Given the description of an element on the screen output the (x, y) to click on. 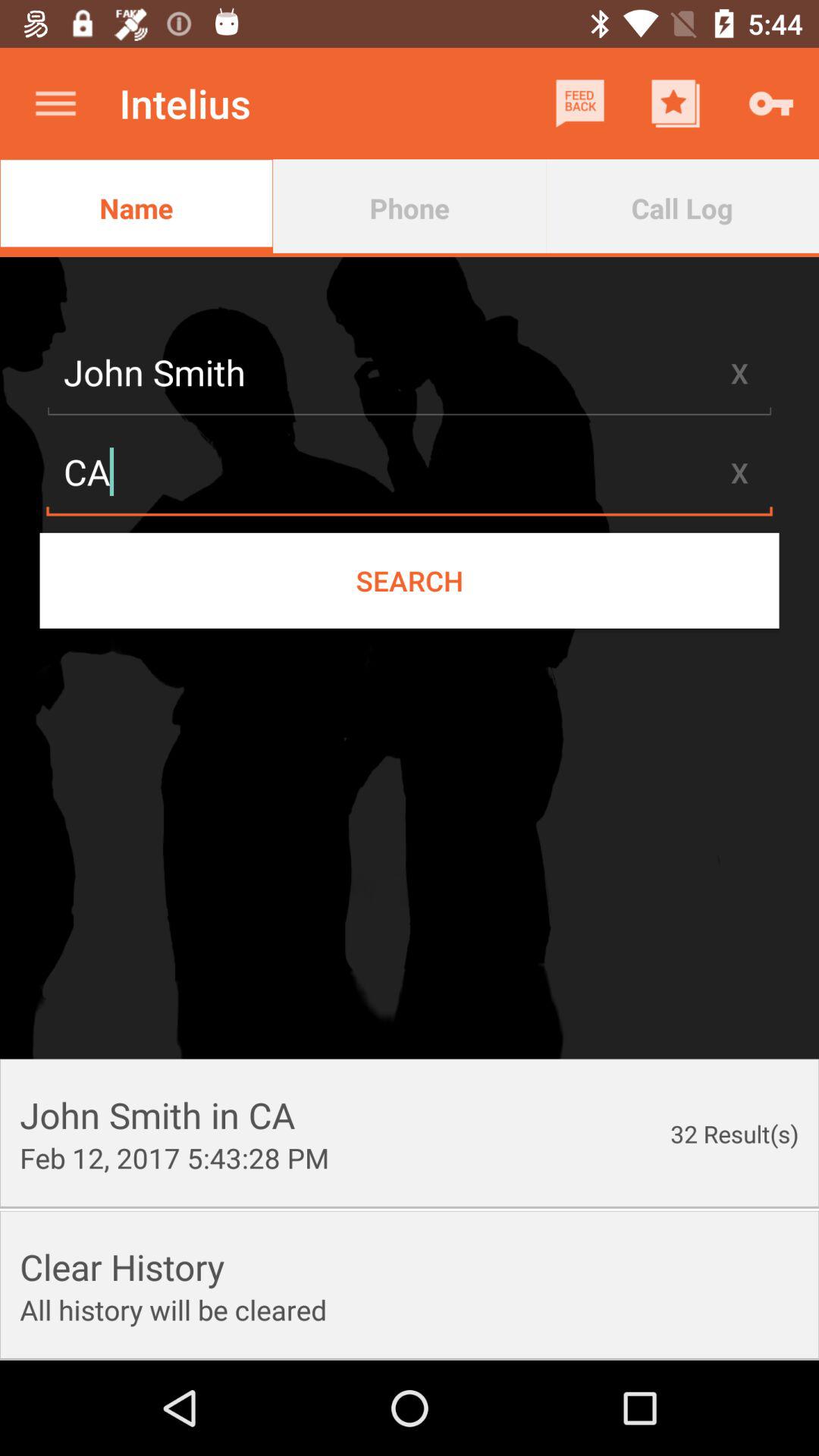
press icon to the left of the intelius icon (55, 103)
